Given the description of an element on the screen output the (x, y) to click on. 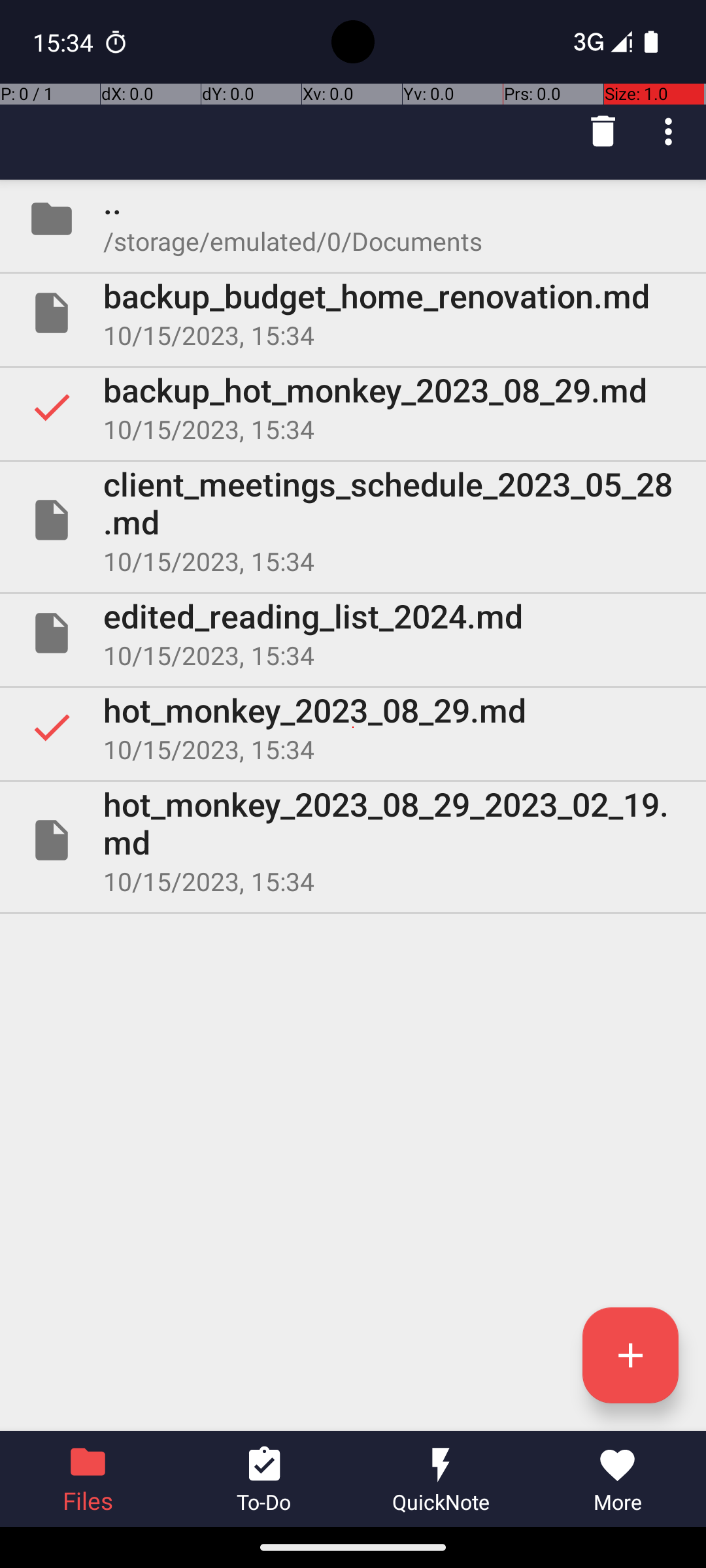
File backup_budget_home_renovation.md  Element type: android.widget.LinearLayout (353, 312)
Selected backup_hot_monkey_2023_08_29.md  Element type: android.widget.LinearLayout (353, 406)
File client_meetings_schedule_2023_05_28.md  Element type: android.widget.LinearLayout (353, 519)
File edited_reading_list_2024.md  Element type: android.widget.LinearLayout (353, 632)
Selected hot_monkey_2023_08_29.md 10/15/2023, 15:34 Element type: android.widget.LinearLayout (353, 726)
File hot_monkey_2023_08_29_2023_02_19.md  Element type: android.widget.LinearLayout (353, 840)
